Given the description of an element on the screen output the (x, y) to click on. 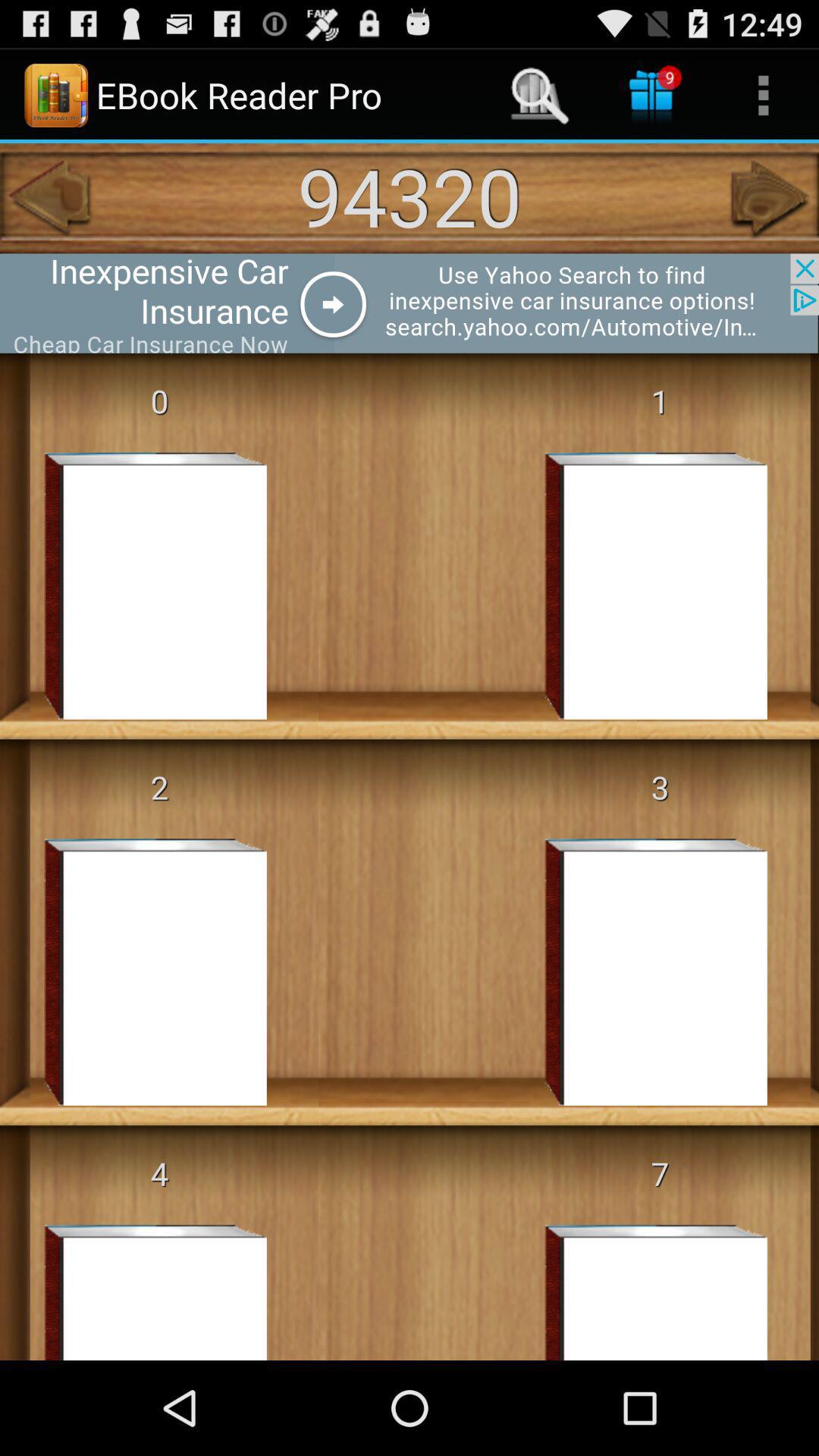
turn on the icon next to 94320 app (771, 198)
